Given the description of an element on the screen output the (x, y) to click on. 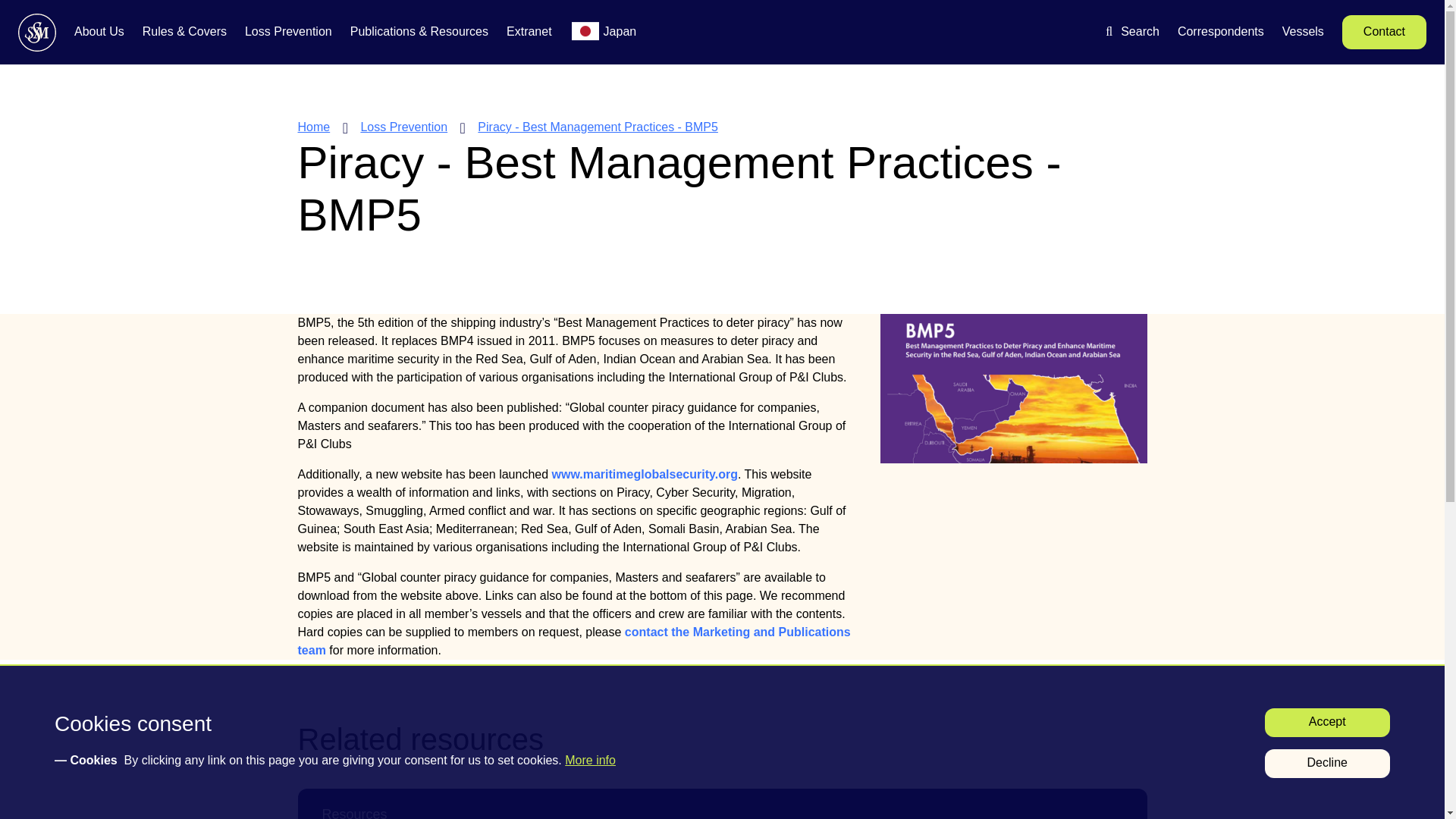
Club Publications and Resource Information (418, 32)
Extranet (528, 32)
Japan (620, 32)
About Us (98, 32)
About Us (98, 32)
Loss Prevention (287, 32)
Maritime Global Security (644, 473)
Rules and Covers (184, 32)
Club Extranet (528, 32)
